Given the description of an element on the screen output the (x, y) to click on. 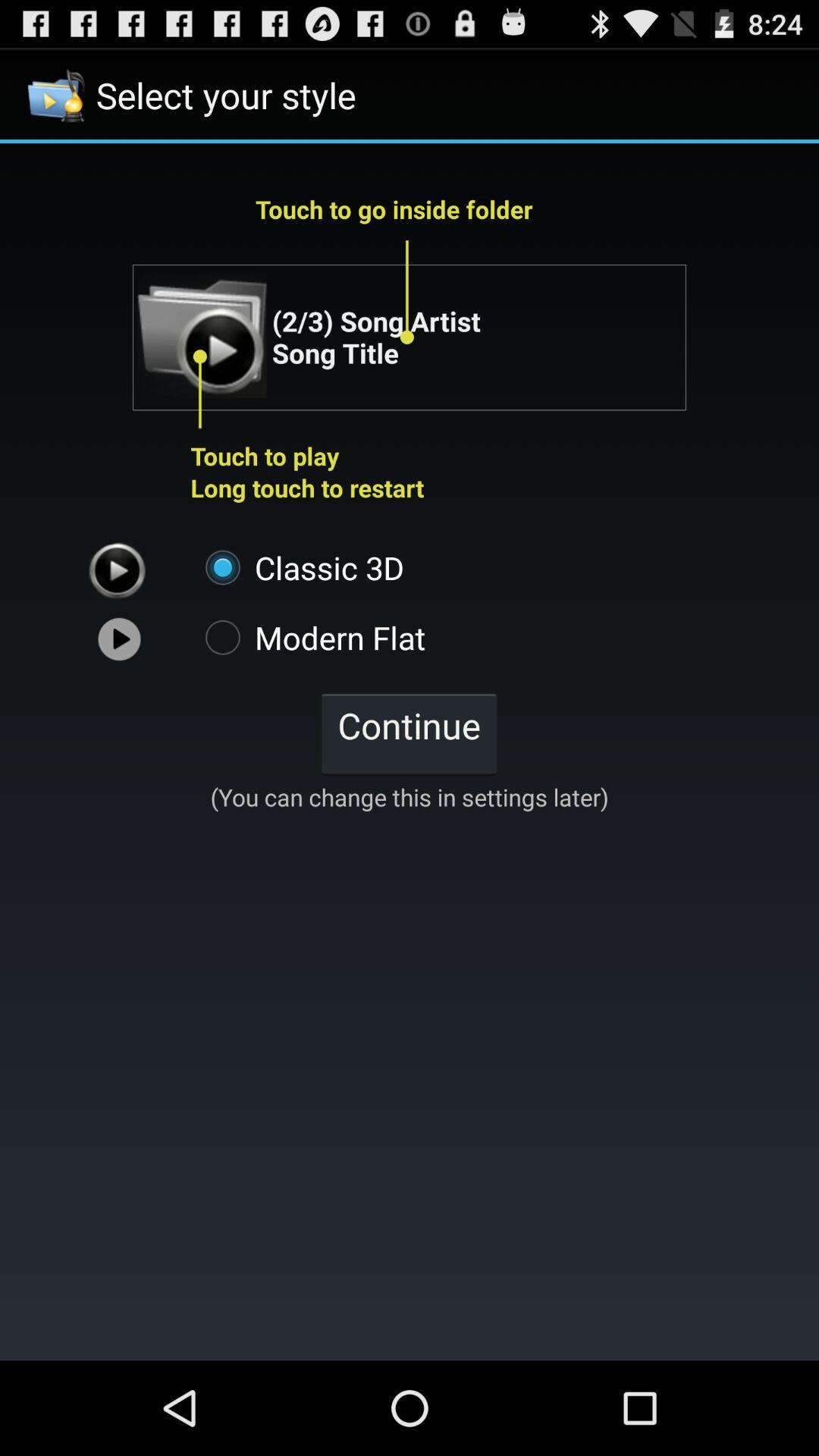
choose item above you can change app (408, 732)
